Given the description of an element on the screen output the (x, y) to click on. 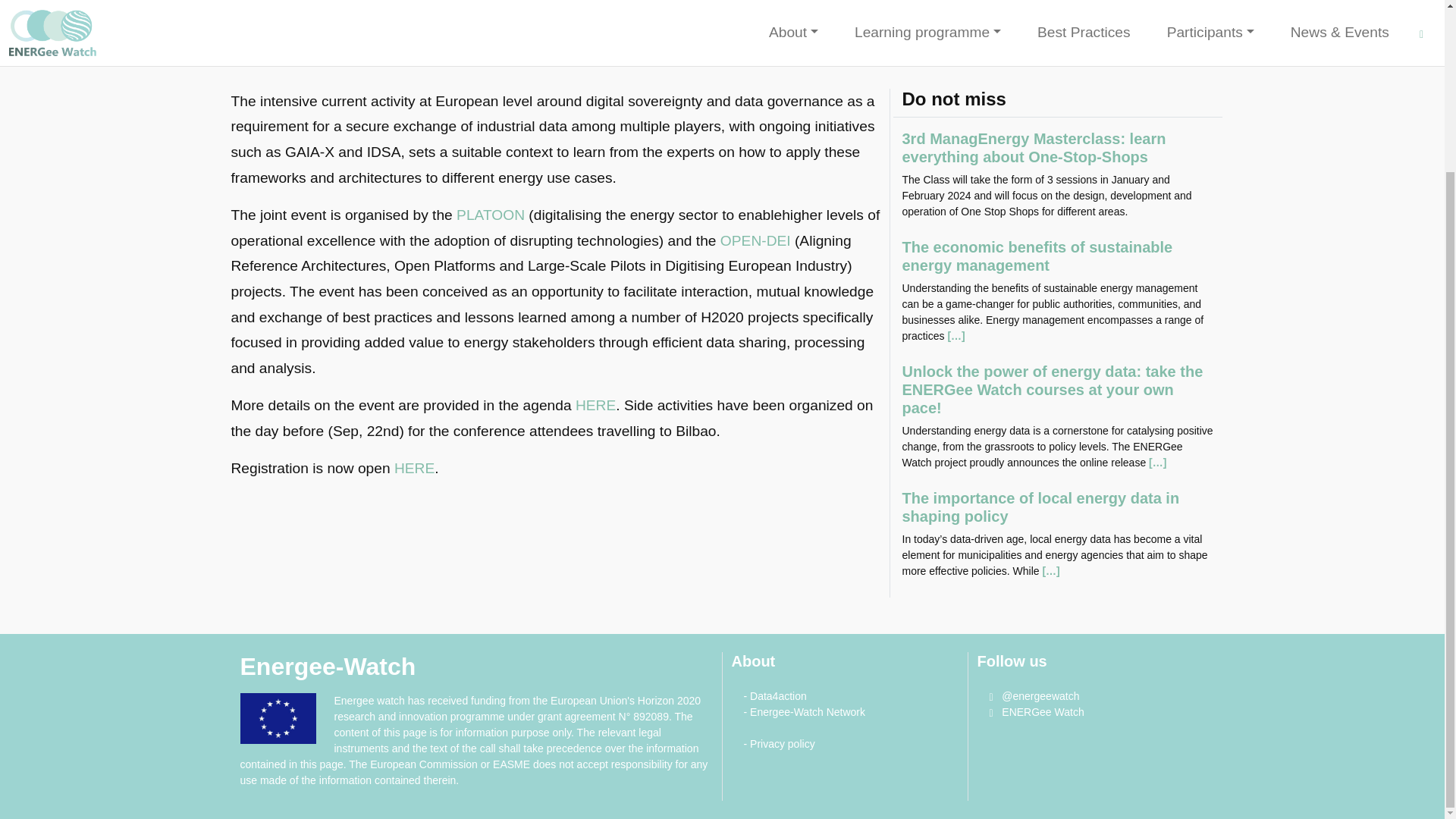
The importance of local energy data in shaping policy (1040, 506)
OPEN-DEI (755, 240)
HERE (413, 467)
PLATOON (490, 214)
- Energee-Watch Network (803, 711)
HERE (595, 405)
  ENERGee Watch (1035, 711)
- Privacy policy (777, 743)
